Given the description of an element on the screen output the (x, y) to click on. 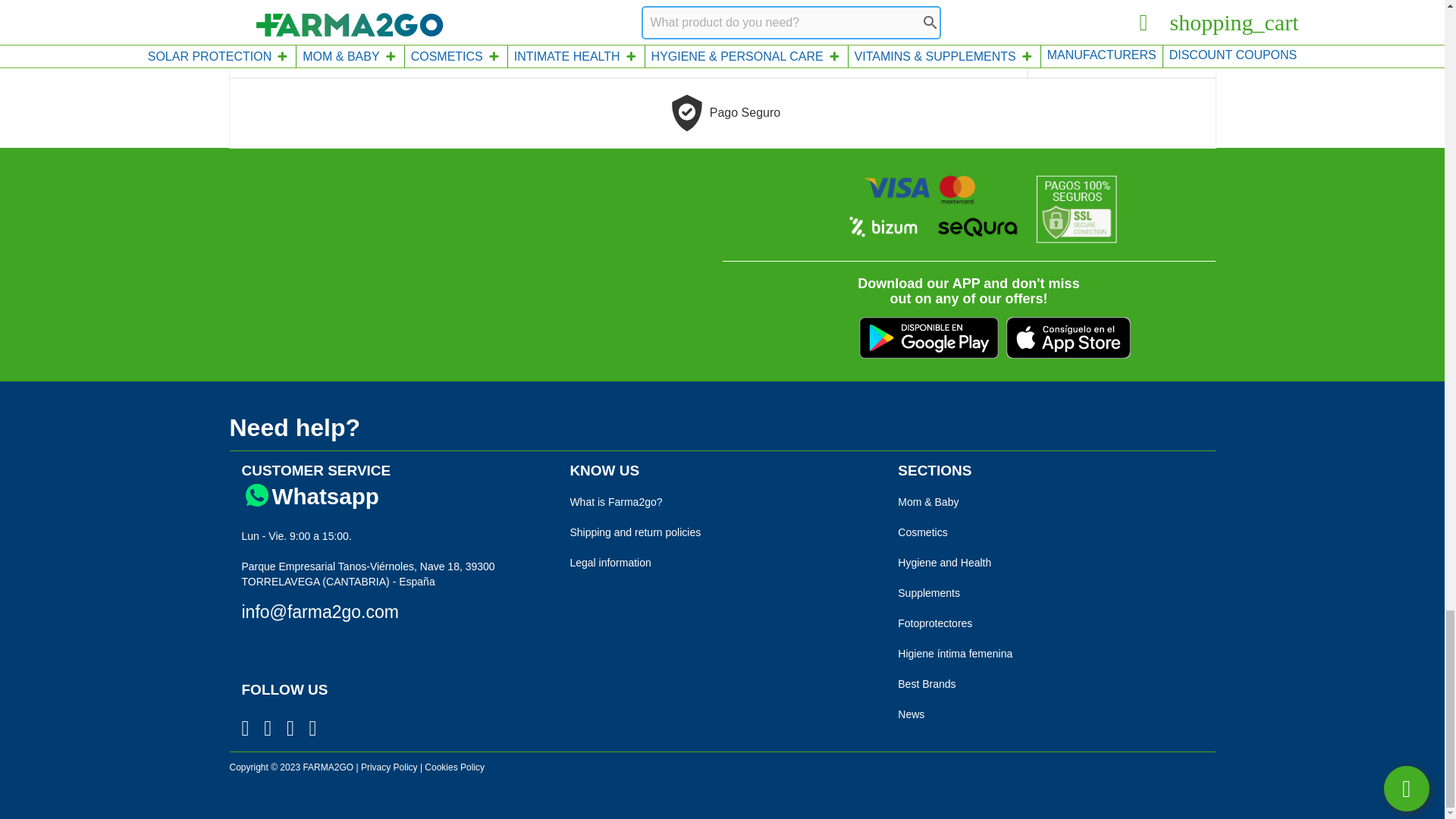
Download on App Store (1068, 337)
Download on google play (928, 337)
